Given the description of an element on the screen output the (x, y) to click on. 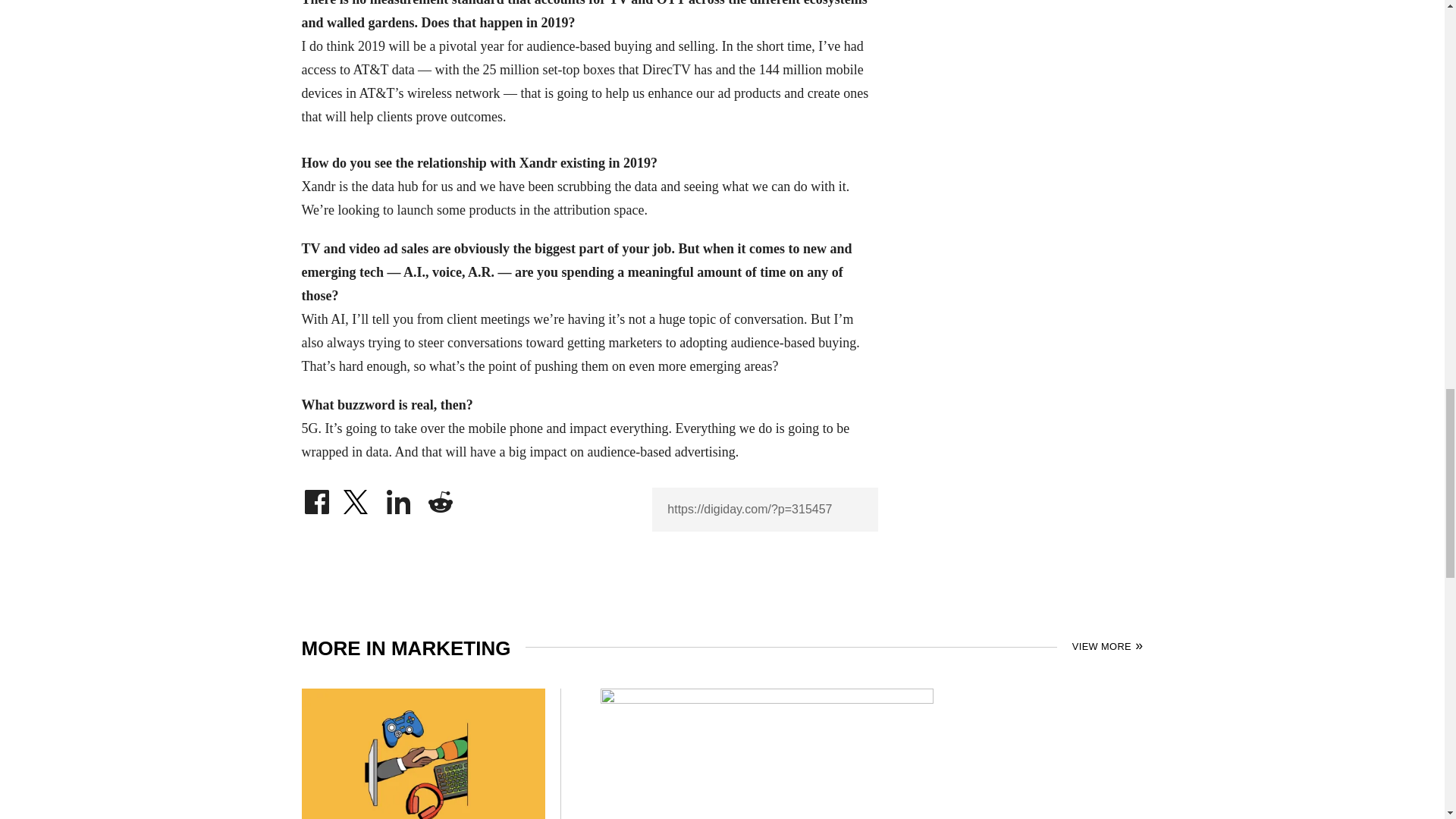
Share on Twitter (357, 498)
Share on Facebook (316, 498)
Share on Reddit (440, 498)
Share on LinkedIn (398, 498)
